Given the description of an element on the screen output the (x, y) to click on. 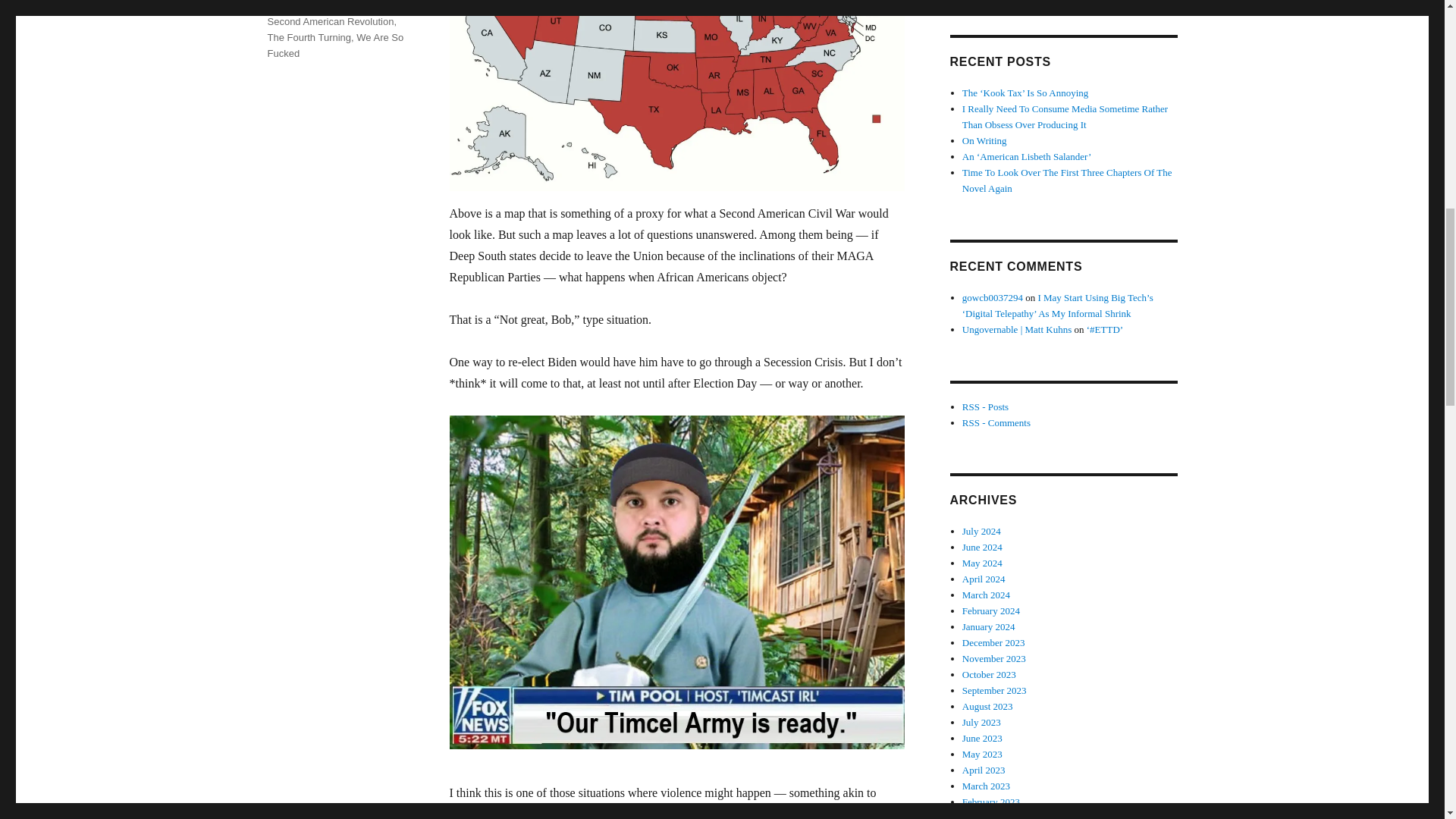
Subscribe to comments (996, 422)
On Writing (984, 140)
Subscribe to posts (985, 406)
Second American Civil War (325, 5)
We Are So Fucked (334, 44)
The Fourth Turning (308, 37)
Second American Revolution (329, 21)
